Given the description of an element on the screen output the (x, y) to click on. 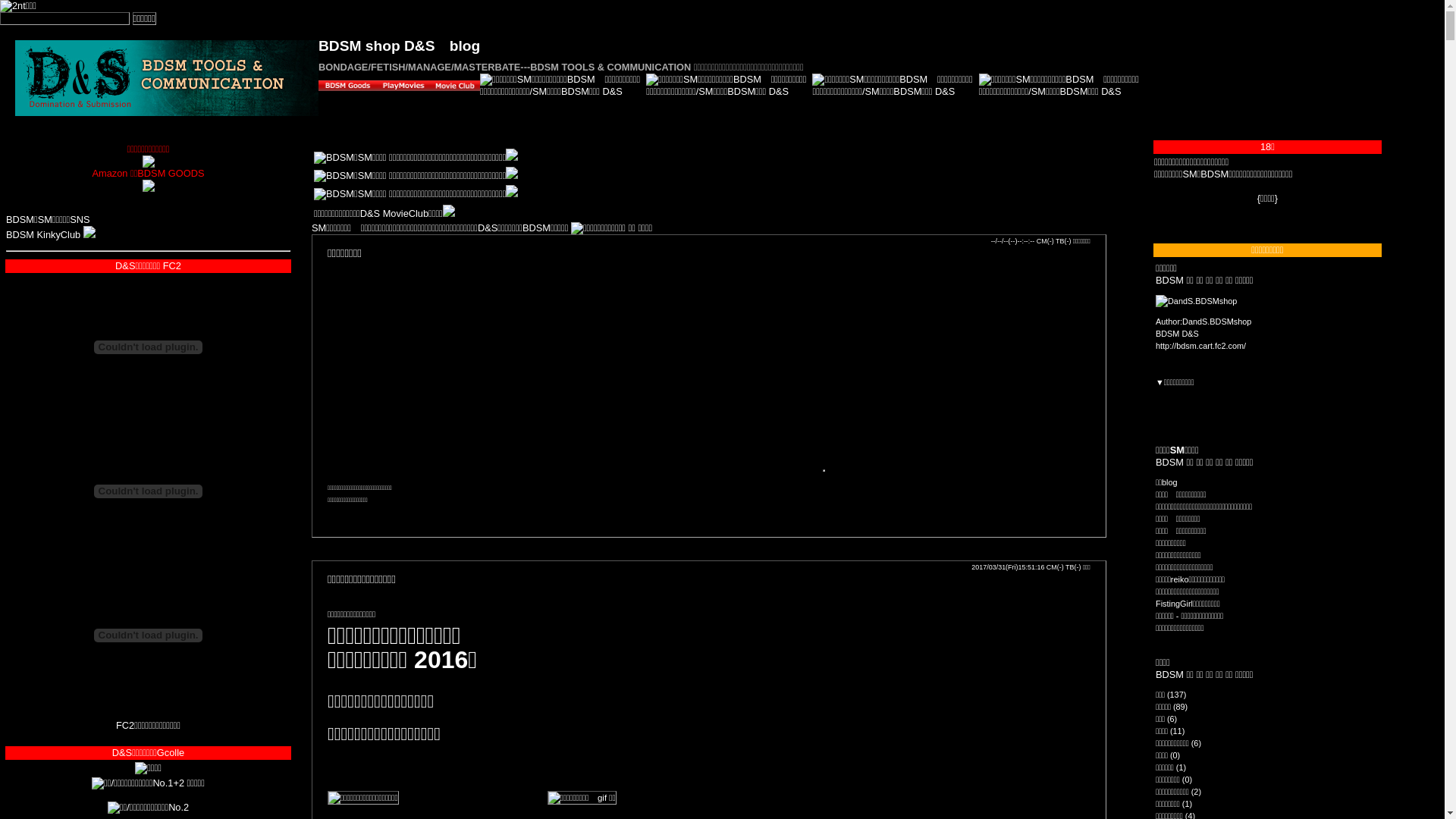
http://bdsm.cart.fc2.com/ Element type: text (1200, 345)
